Given the description of an element on the screen output the (x, y) to click on. 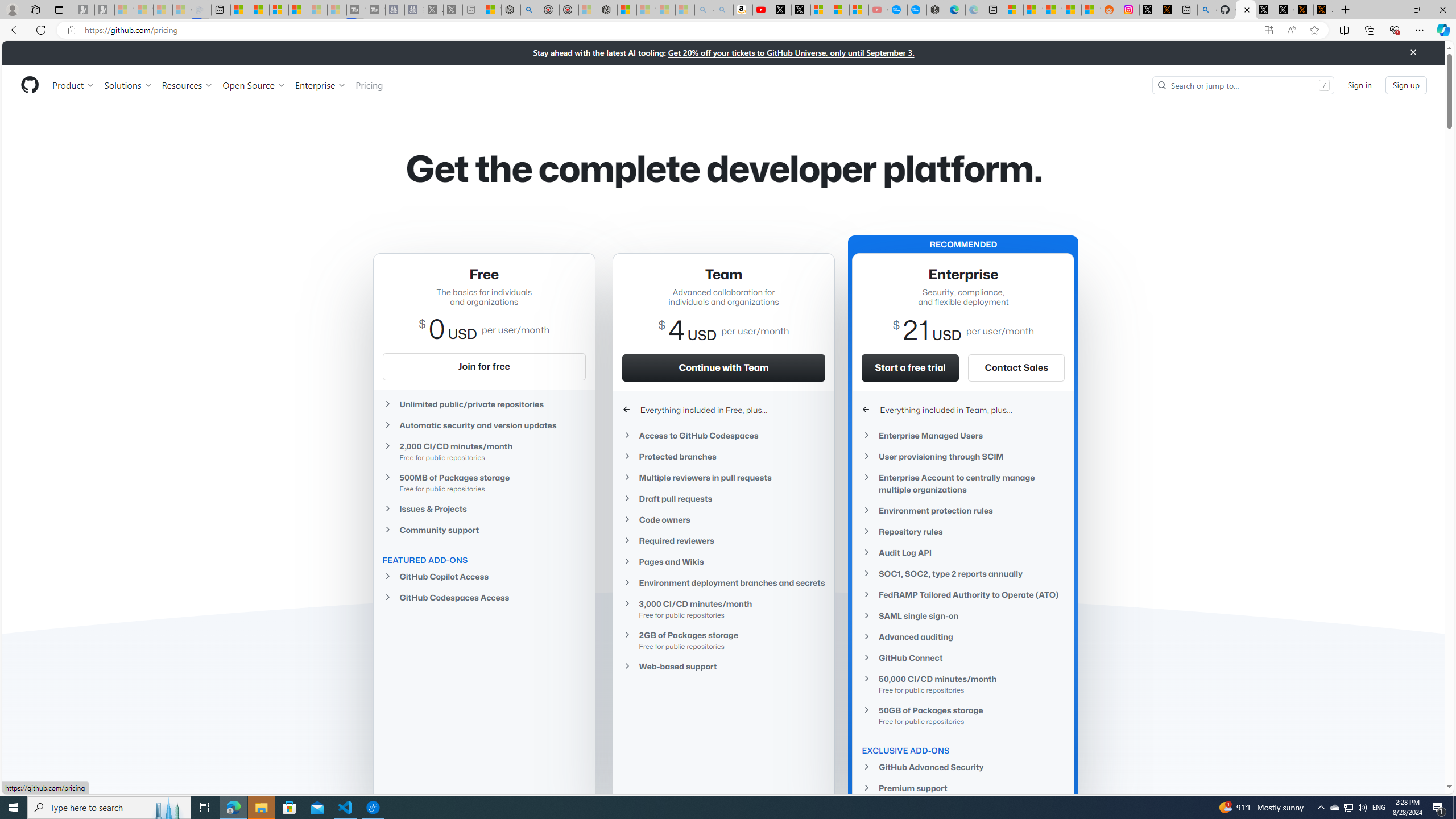
50,000 CI/CD minutes/month Free for public repositories (963, 684)
Pages and Wikis (723, 561)
2,000 CI/CD minutes/monthFree for public repositories (483, 450)
Pricing (368, 84)
Unlimited public/private repositories (483, 404)
Enterprise (319, 84)
X (800, 9)
Advanced auditing (963, 636)
Environment deployment branches and secrets (723, 582)
Resources (187, 84)
